Given the description of an element on the screen output the (x, y) to click on. 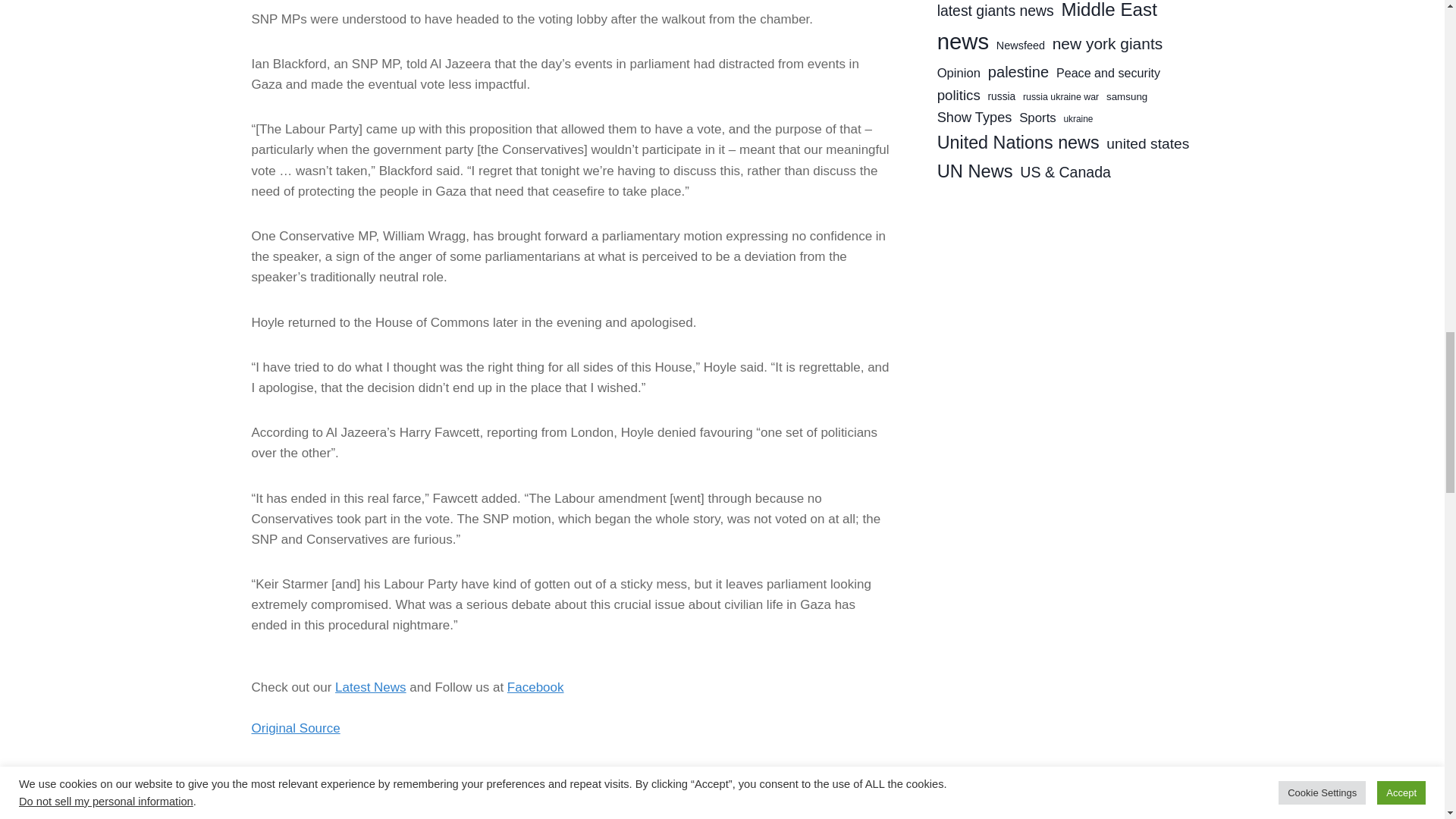
politics (688, 794)
israel (329, 794)
Middle East (507, 794)
Latest News (370, 687)
Israel War on Gaza (411, 794)
news (572, 794)
palestine (628, 794)
europe (276, 794)
united kingdom (764, 794)
Original Source (295, 728)
Facebook (535, 687)
